Given the description of an element on the screen output the (x, y) to click on. 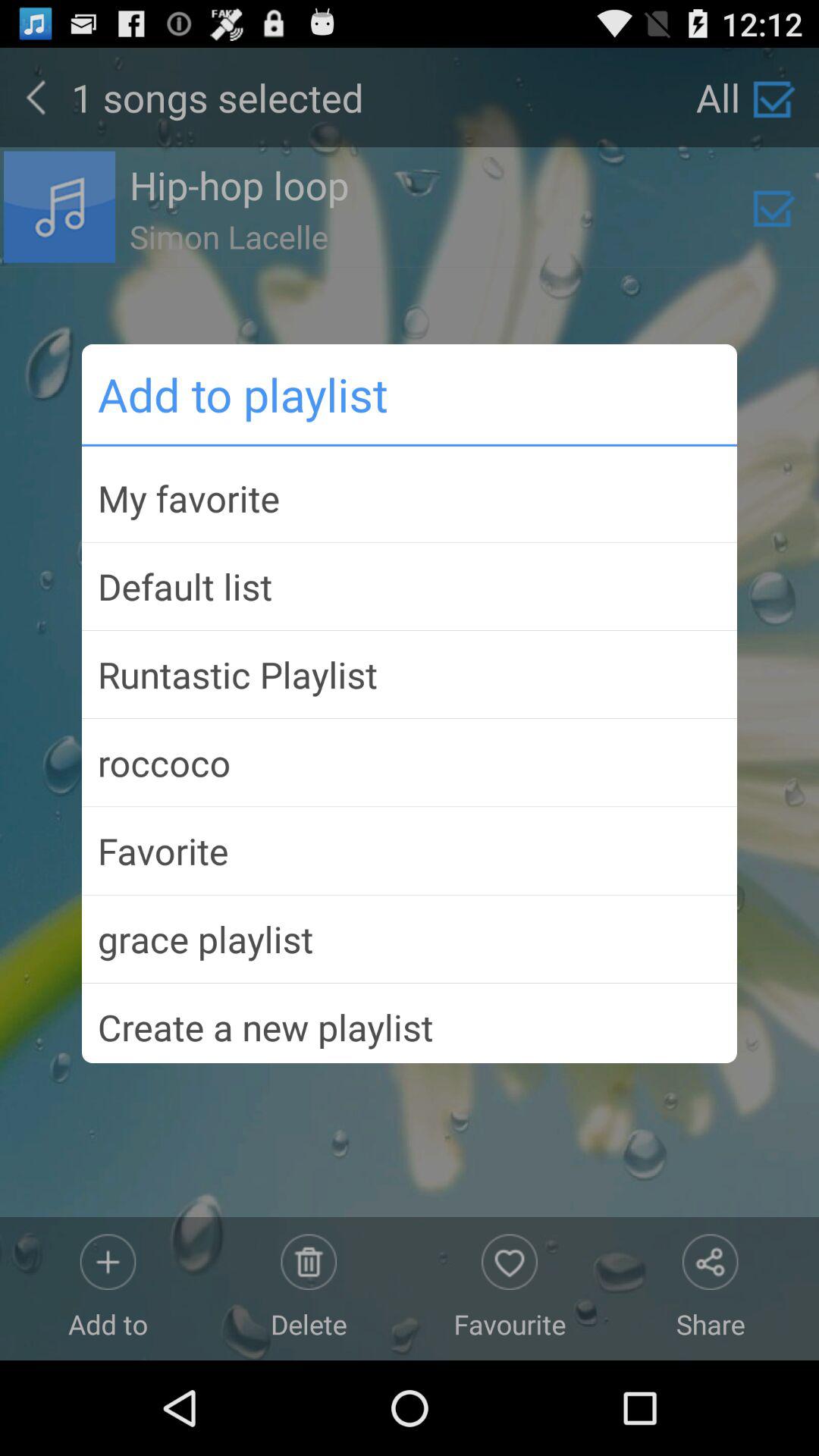
click app above the default list app (409, 498)
